Given the description of an element on the screen output the (x, y) to click on. 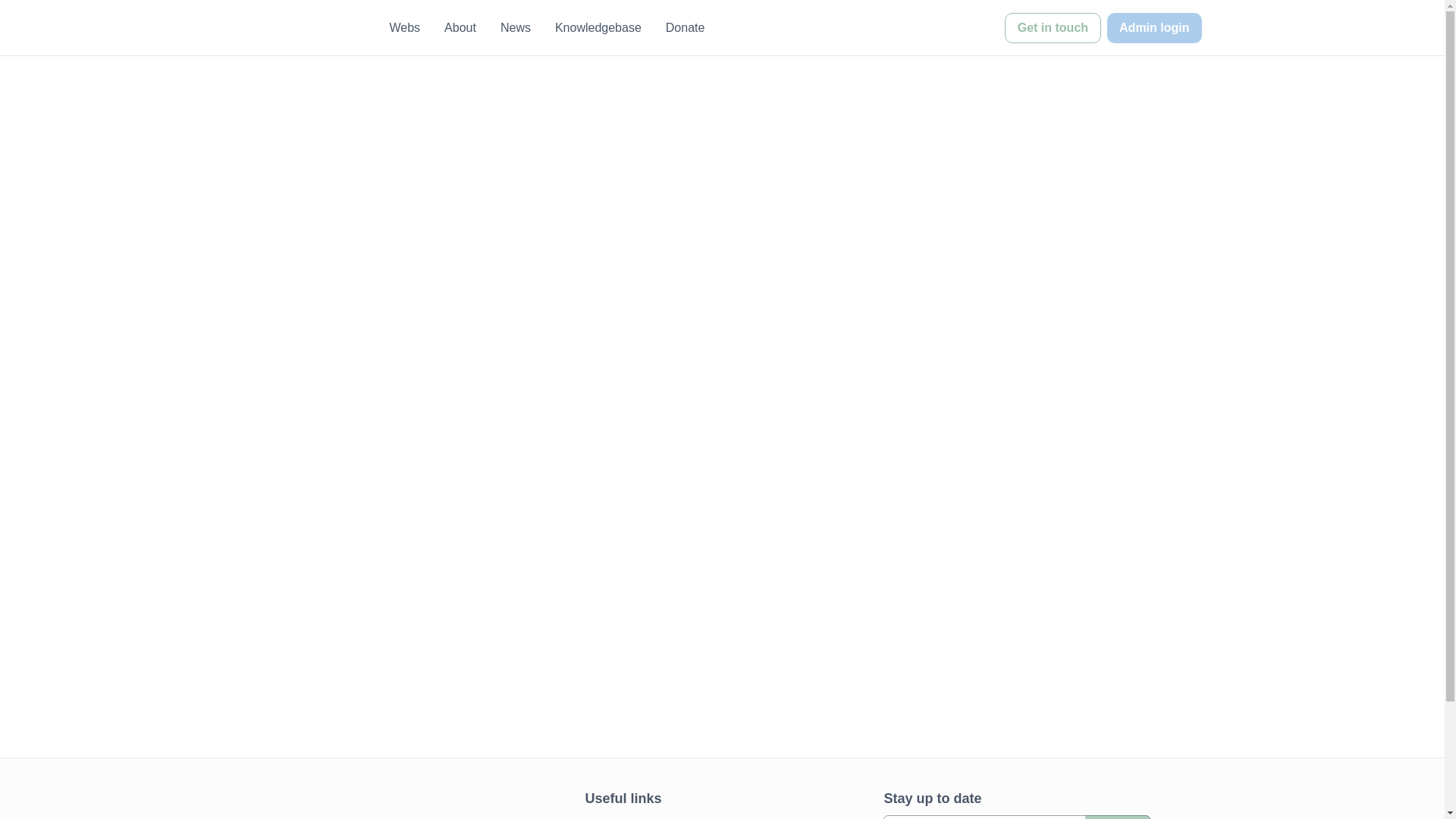
Webs (405, 27)
Donate (684, 27)
Knowledgebase (598, 27)
Get in touch (1052, 27)
Webs (405, 27)
Donate (684, 27)
Admin login (1150, 27)
Admin login (1153, 27)
Submit (1117, 816)
News (515, 27)
About (460, 27)
About (460, 27)
News (515, 27)
Knowledgebase (598, 27)
